Given the description of an element on the screen output the (x, y) to click on. 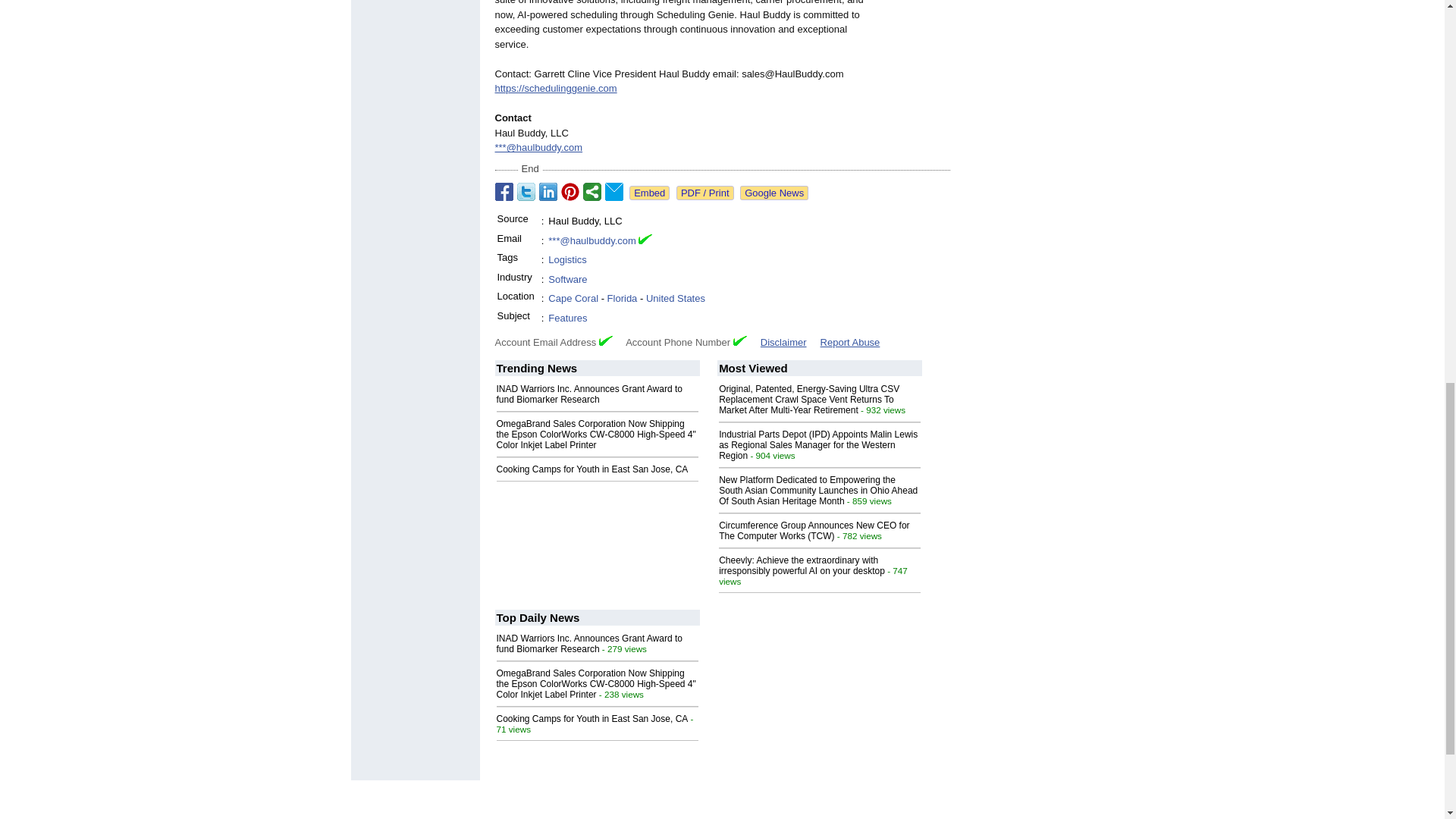
See or print the PDF version! (705, 192)
Embed (648, 192)
Share on Facebook (503, 191)
Share on LinkedIn (547, 191)
Email Verified (645, 240)
Embed this press release in your website! (648, 192)
Share on Pinterest (569, 191)
Email to a Friend (614, 191)
Verified (605, 340)
Verified (739, 340)
Share on StumbleUpon, Digg, etc (590, 191)
Share on Twitter (525, 191)
